Given the description of an element on the screen output the (x, y) to click on. 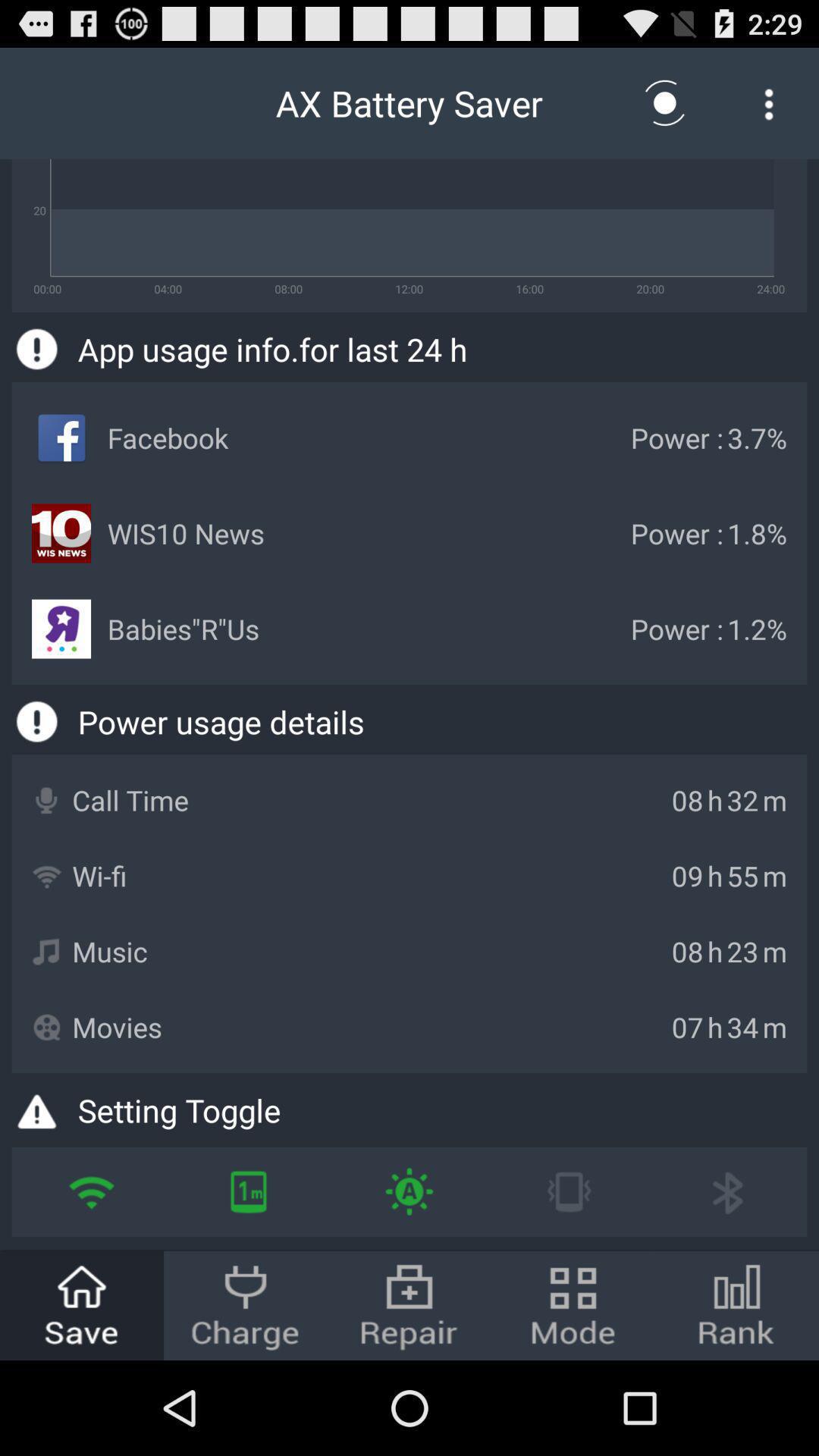
open the icon to the right of ax battery saver app (665, 103)
